Given the description of an element on the screen output the (x, y) to click on. 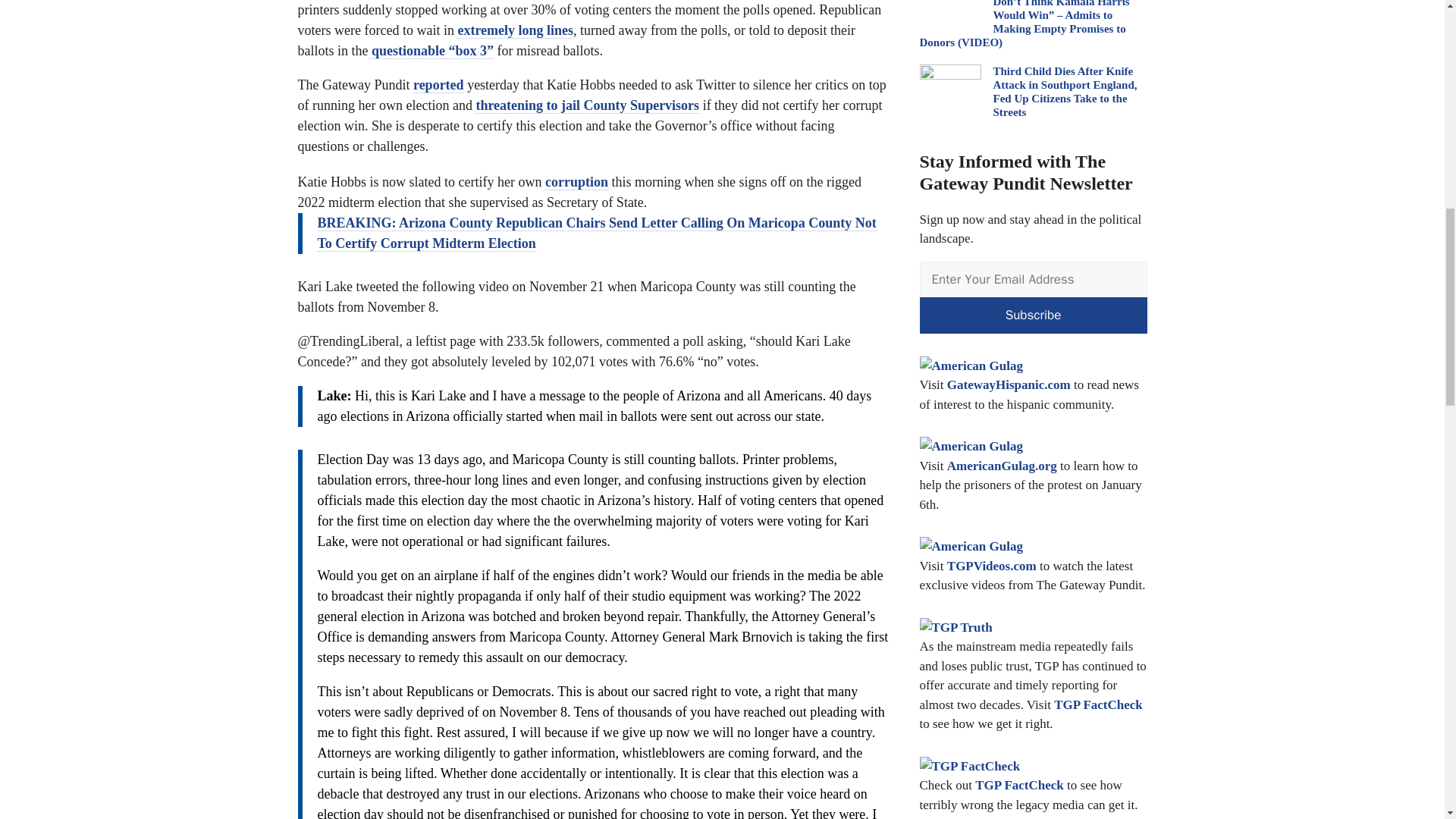
Subscribe (1032, 315)
